Given the description of an element on the screen output the (x, y) to click on. 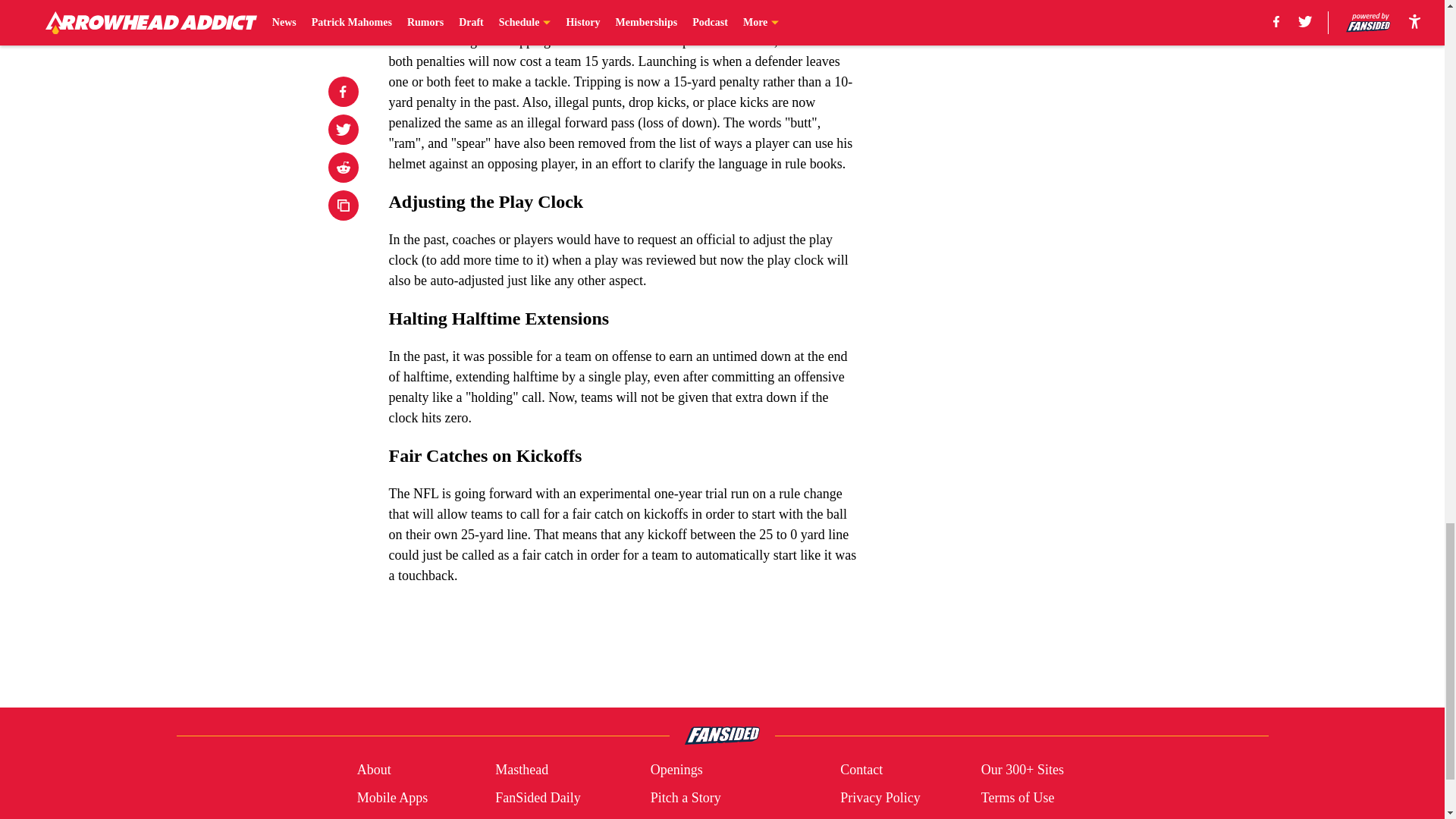
About (373, 770)
Contact (861, 770)
Privacy Policy (880, 797)
Pitch a Story (685, 797)
Terms of Use (1017, 797)
FanSided Daily (537, 797)
Mobile Apps (392, 797)
Openings (676, 770)
Masthead (521, 770)
